Given the description of an element on the screen output the (x, y) to click on. 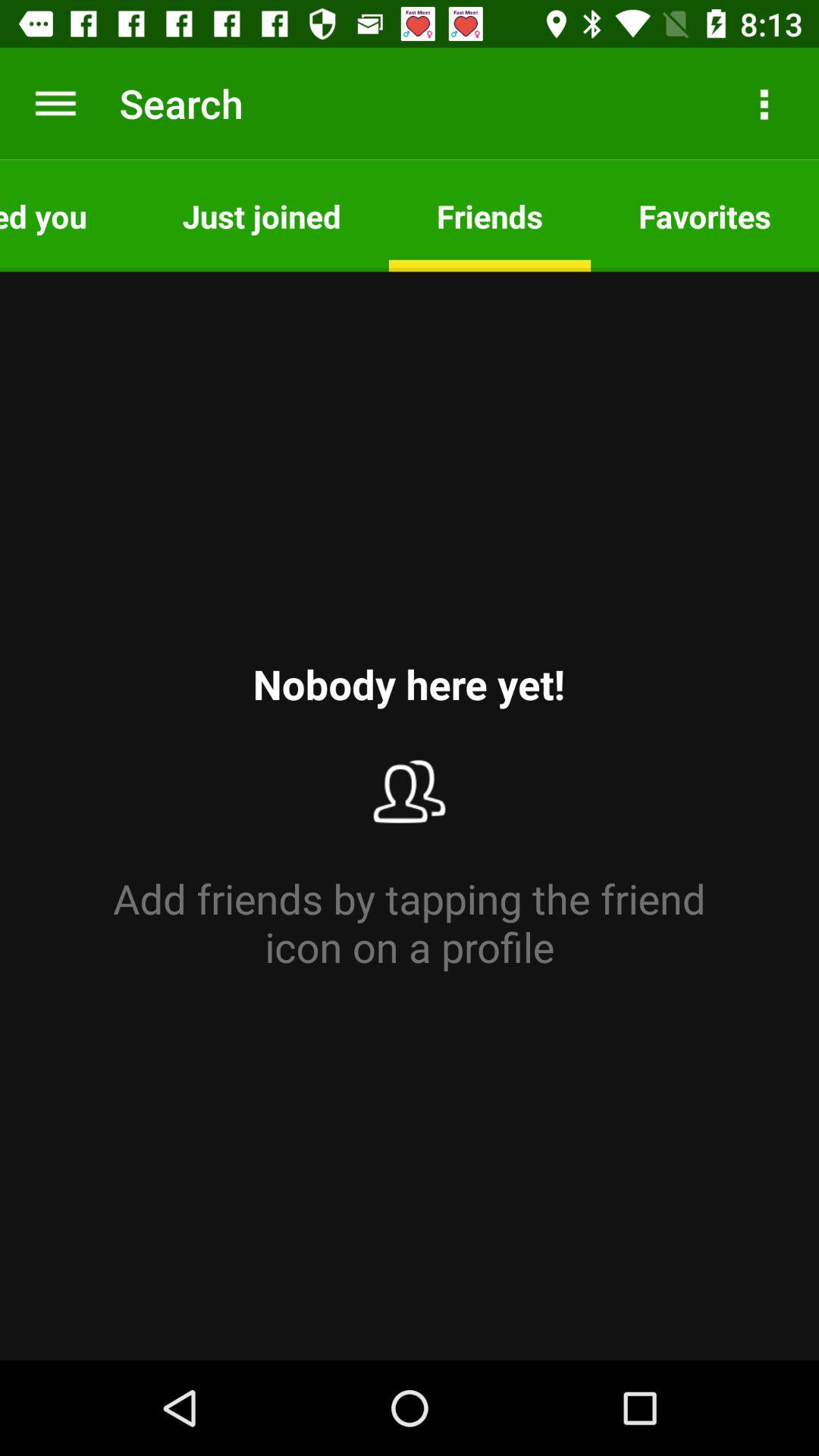
tap the app above nobody here yet! (261, 215)
